Given the description of an element on the screen output the (x, y) to click on. 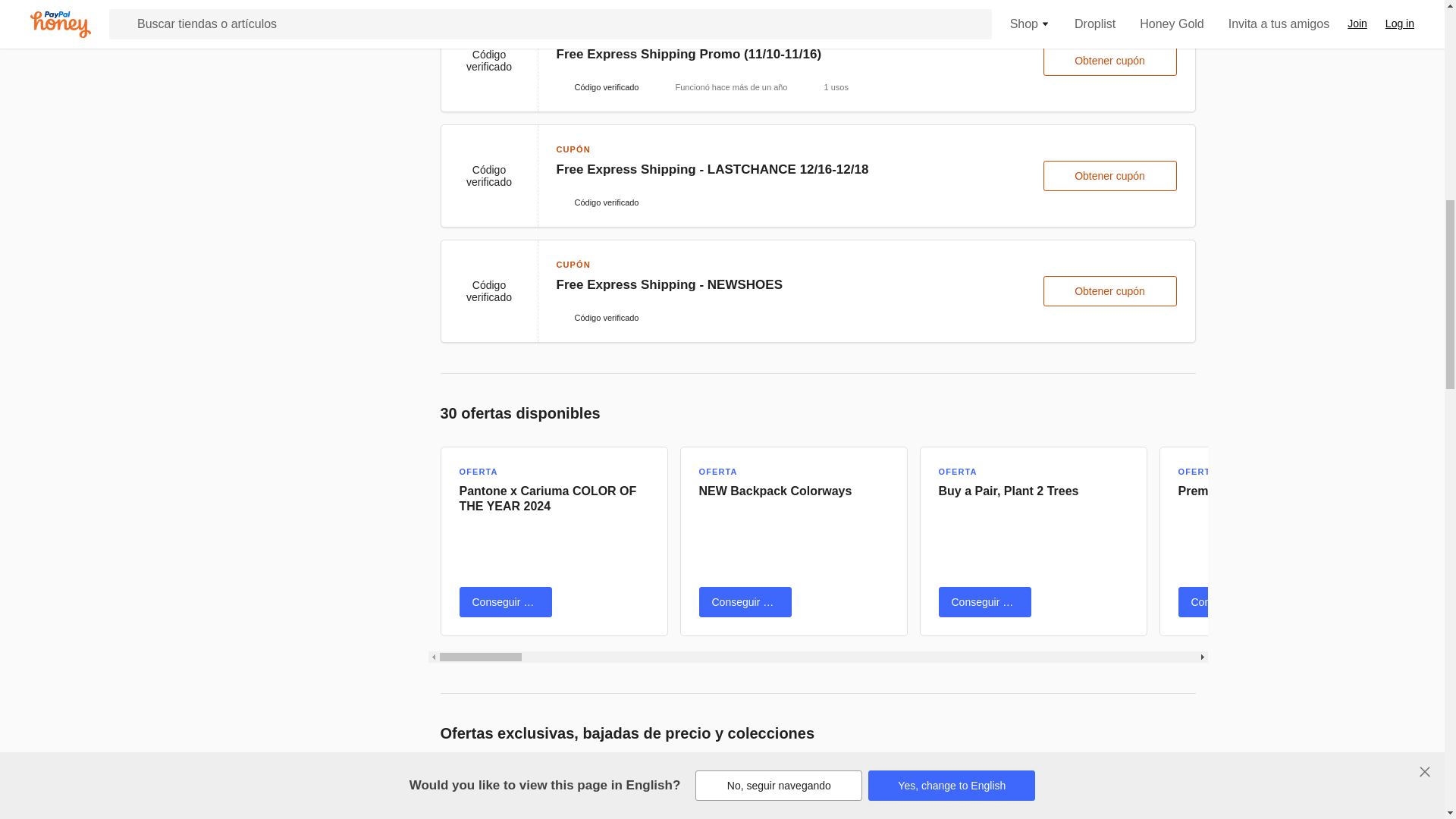
Conseguir oferta (1224, 602)
Conseguir oferta (745, 602)
Conseguir oferta (984, 602)
Conseguir oferta (505, 602)
